Given the description of an element on the screen output the (x, y) to click on. 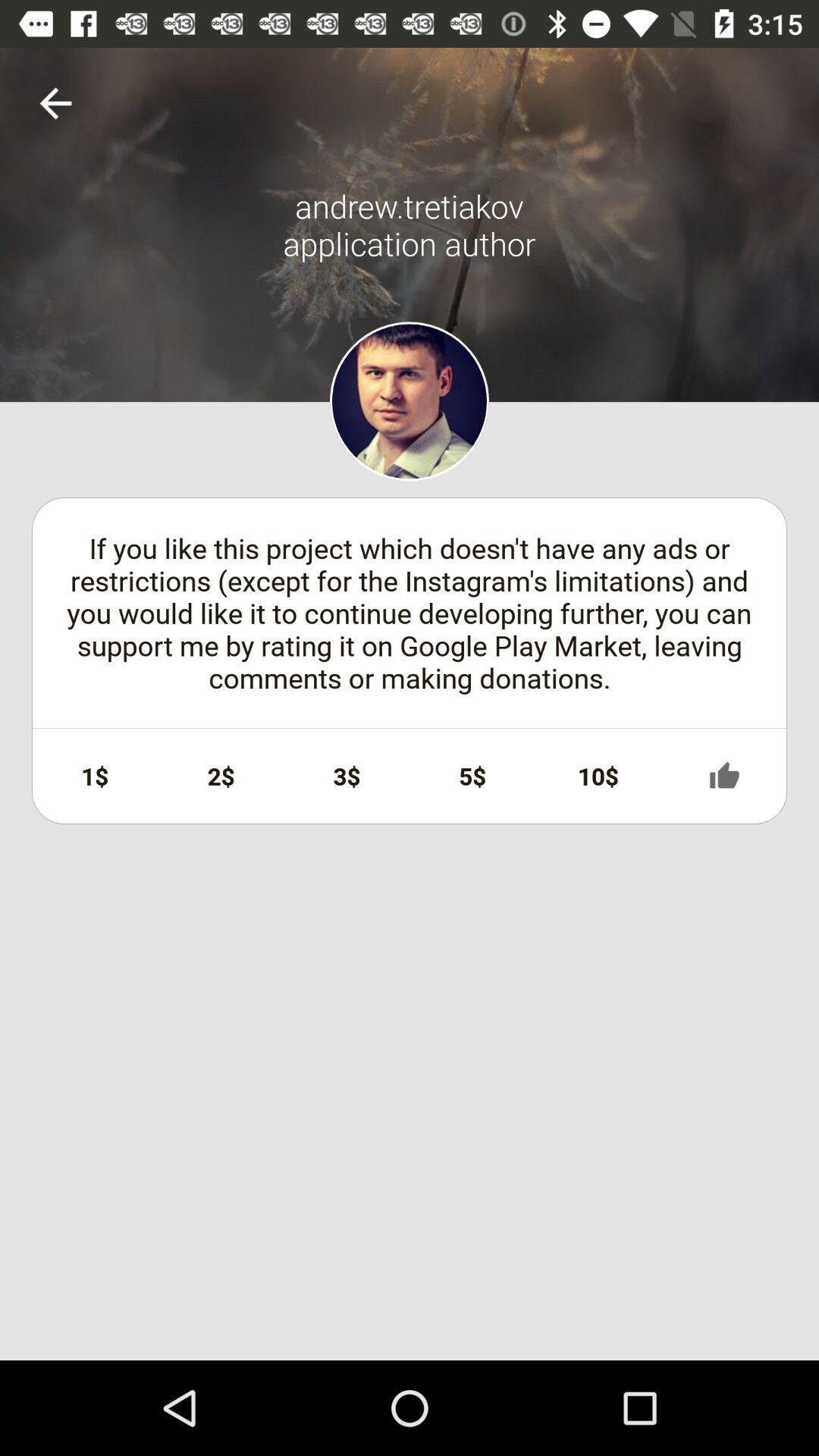
choose the 10$ icon (598, 776)
